Given the description of an element on the screen output the (x, y) to click on. 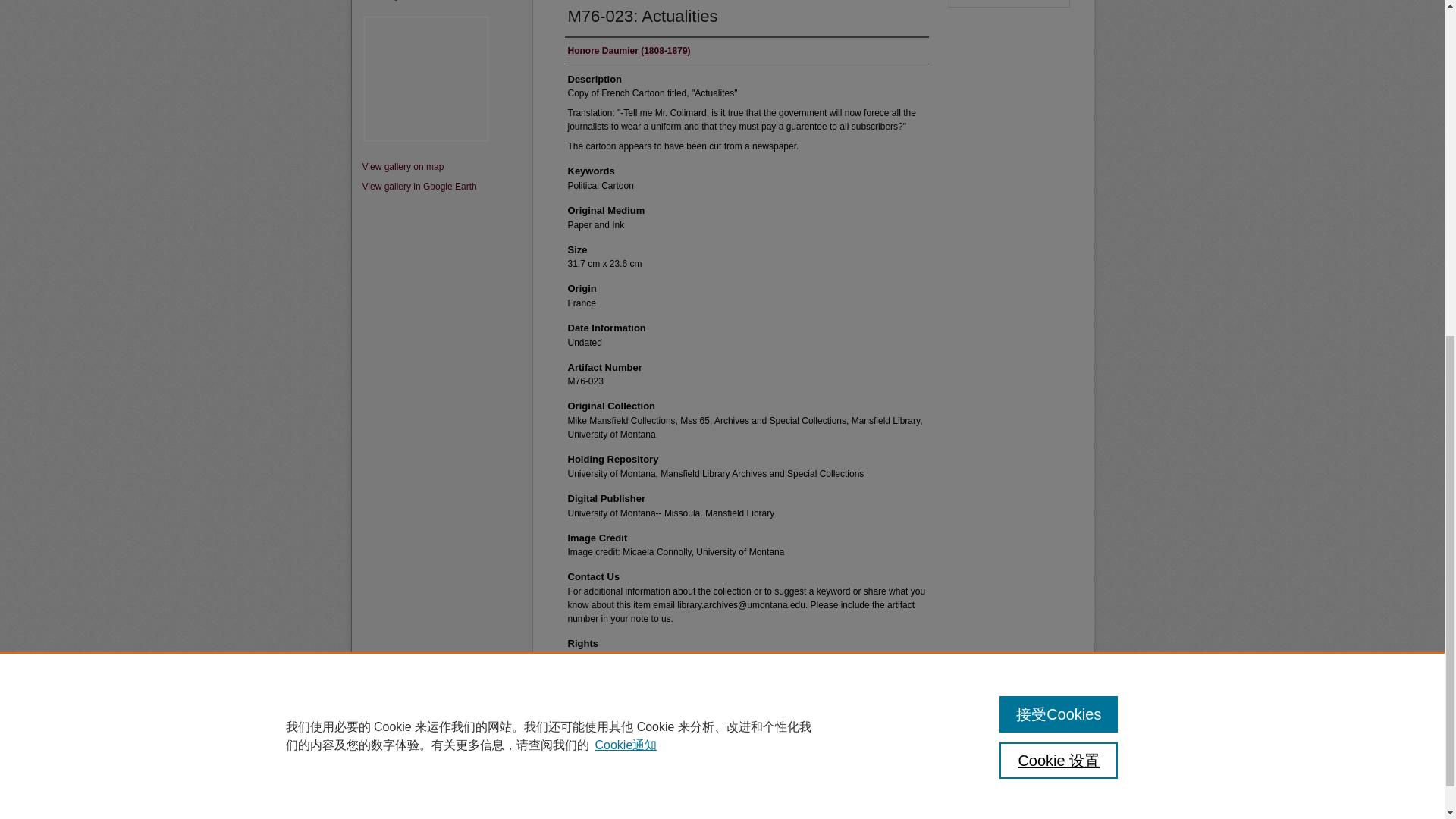
Copyright Not Evaluated (616, 657)
View gallery on map (441, 168)
M76-023: Actualities (642, 15)
